Given the description of an element on the screen output the (x, y) to click on. 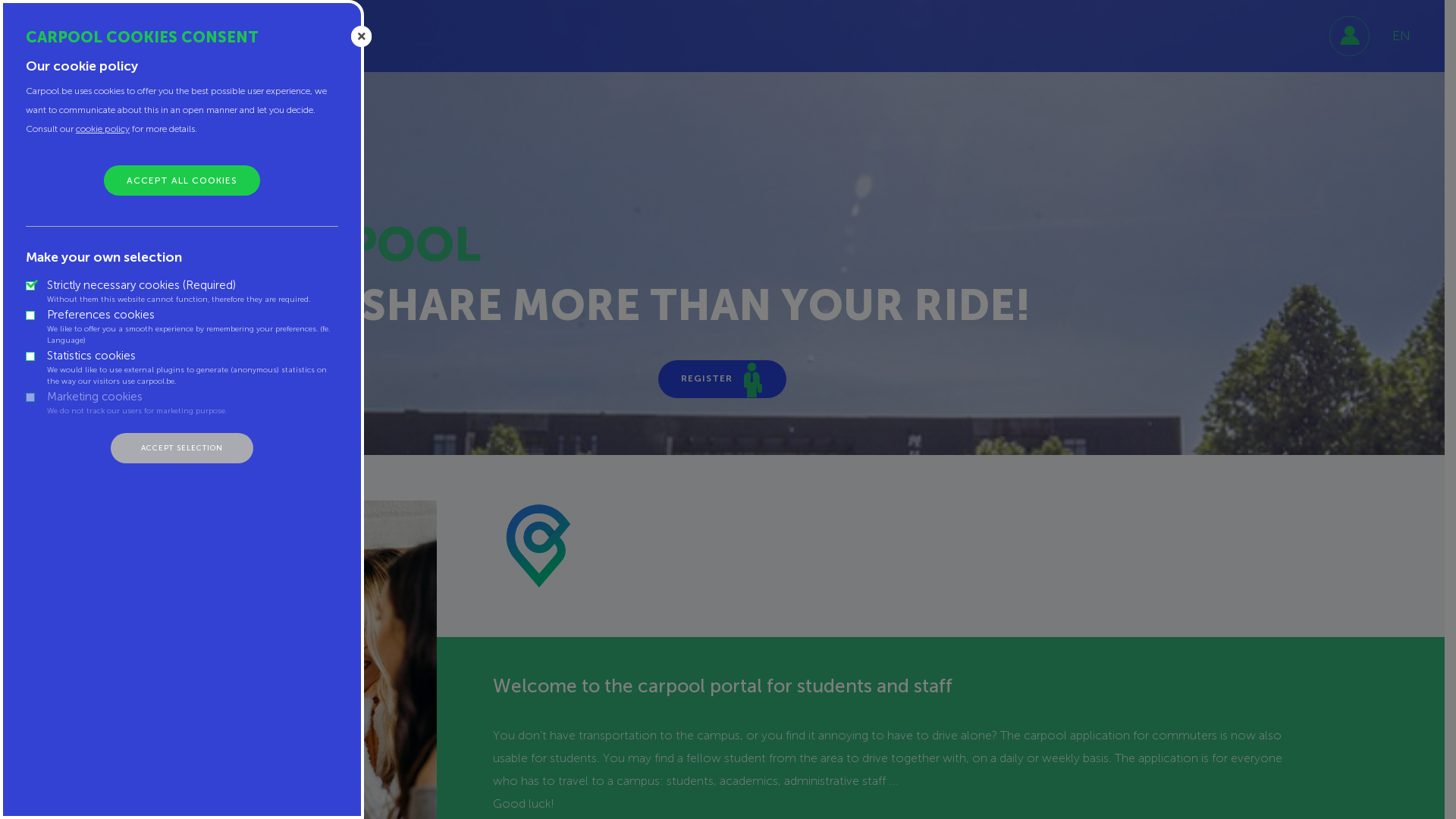
EN Element type: text (1401, 35)
ACCEPT SELECTION Element type: text (181, 448)
ACCEPT ALL COOKIES Element type: text (181, 180)
cookie policy Element type: text (102, 128)
